Given the description of an element on the screen output the (x, y) to click on. 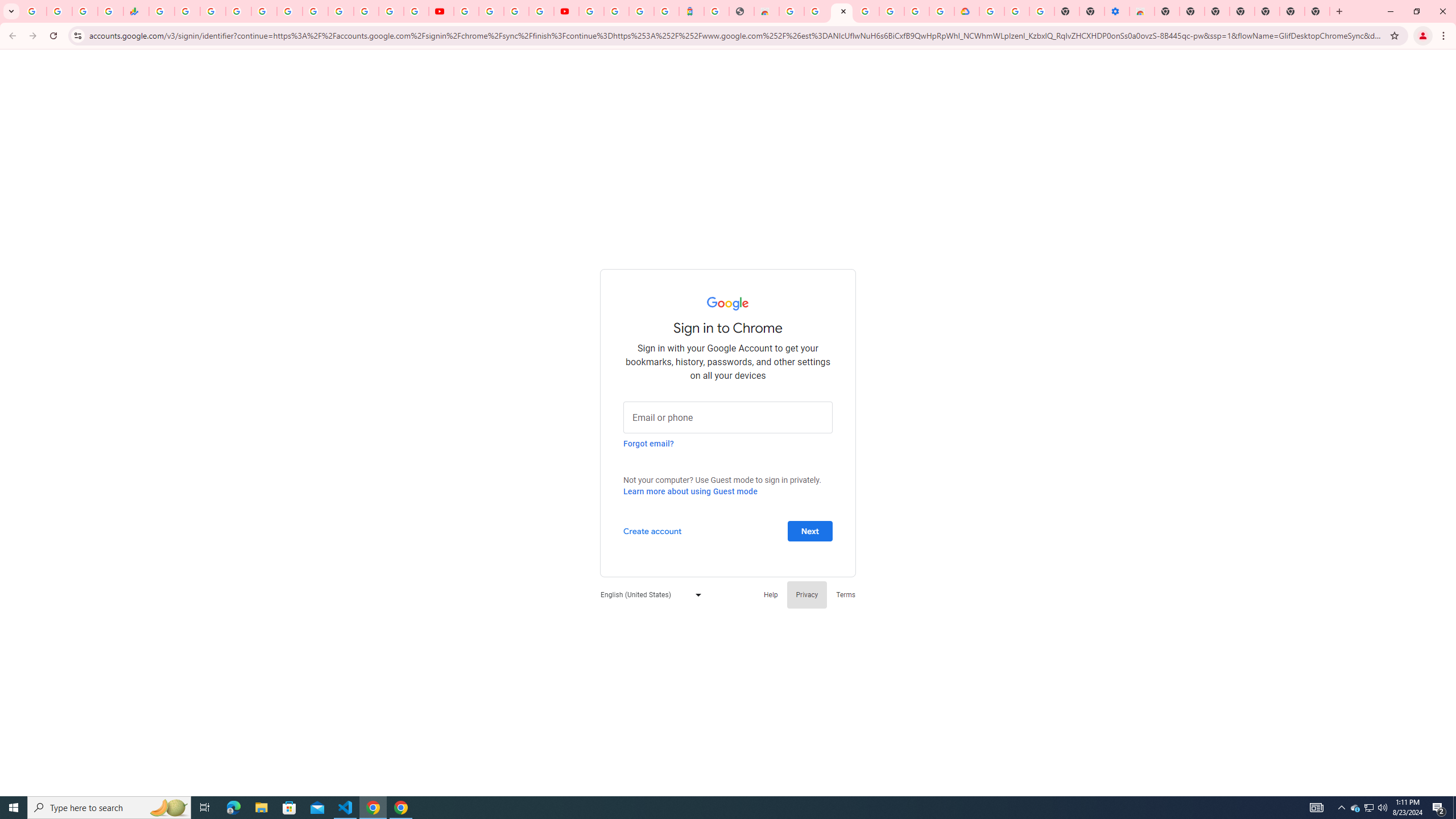
Sign in - Google Accounts (616, 11)
Sign in - Google Accounts (365, 11)
Create account (651, 530)
Chrome Web Store - Household (766, 11)
Sign in - Google Accounts (991, 11)
YouTube (340, 11)
Forgot email? (648, 443)
Content Creator Programs & Opportunities - YouTube Creators (565, 11)
Sign in - Google Accounts (916, 11)
